Given the description of an element on the screen output the (x, y) to click on. 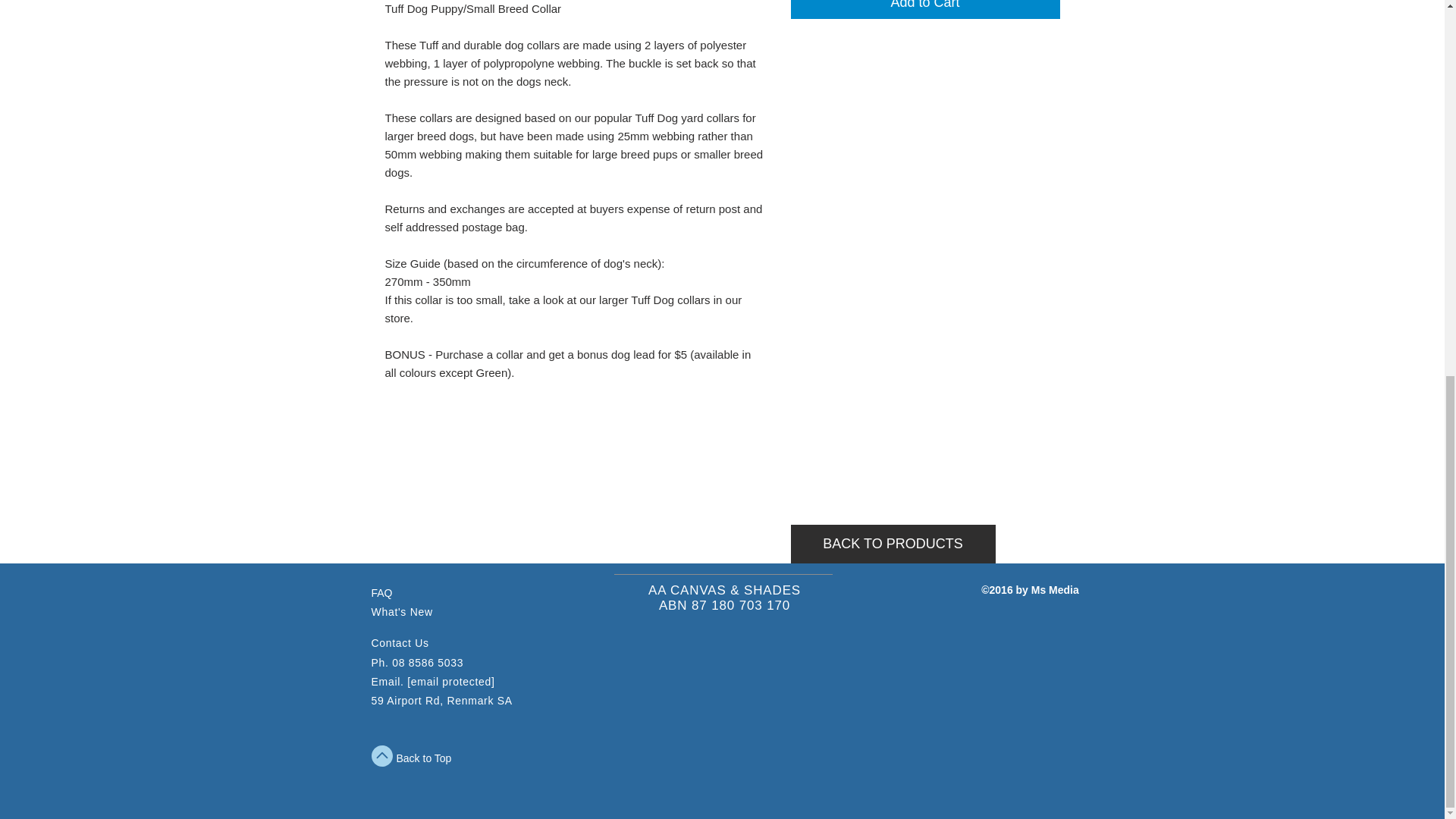
Add to Cart (924, 9)
BACK TO PRODUCTS (892, 543)
